Given the description of an element on the screen output the (x, y) to click on. 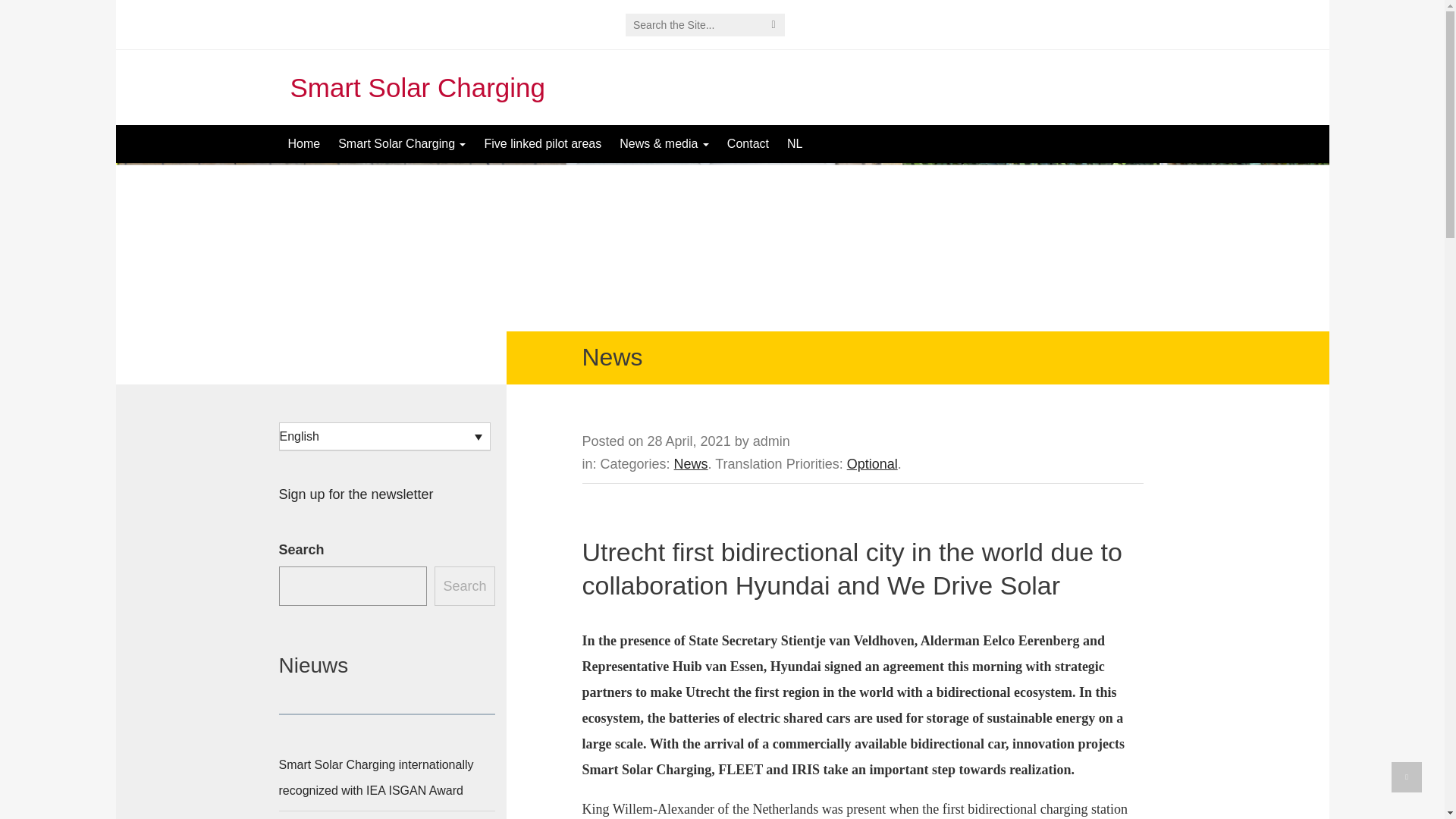
Home (304, 143)
Five linked pilot areas (542, 143)
News (690, 463)
English (384, 436)
Search (464, 586)
Sign up for the newsletter (356, 494)
Smart Solar Charging (416, 87)
Smart Solar Charging (401, 143)
